Given the description of an element on the screen output the (x, y) to click on. 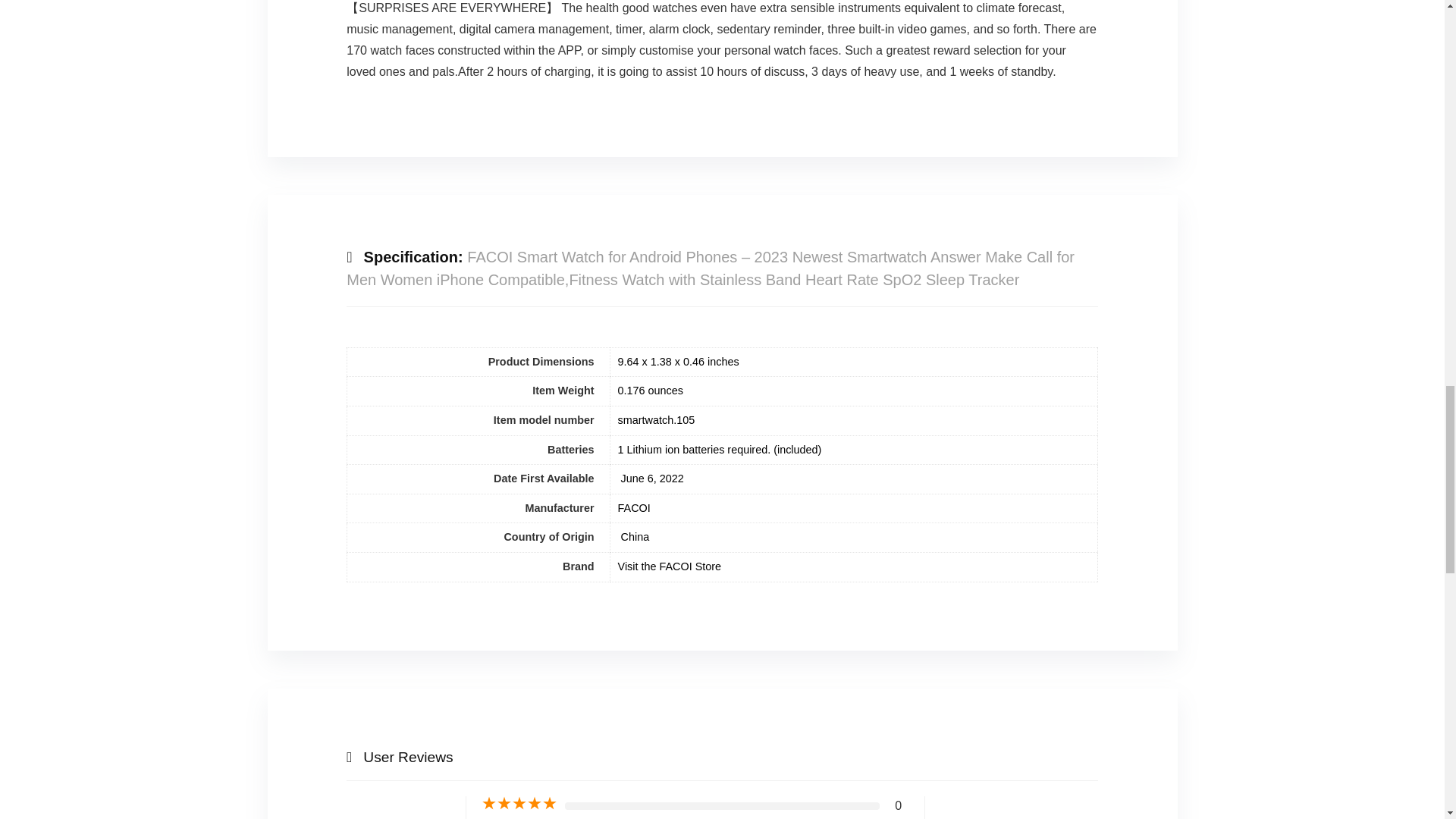
Rated 5 out of 5 (519, 803)
